Given the description of an element on the screen output the (x, y) to click on. 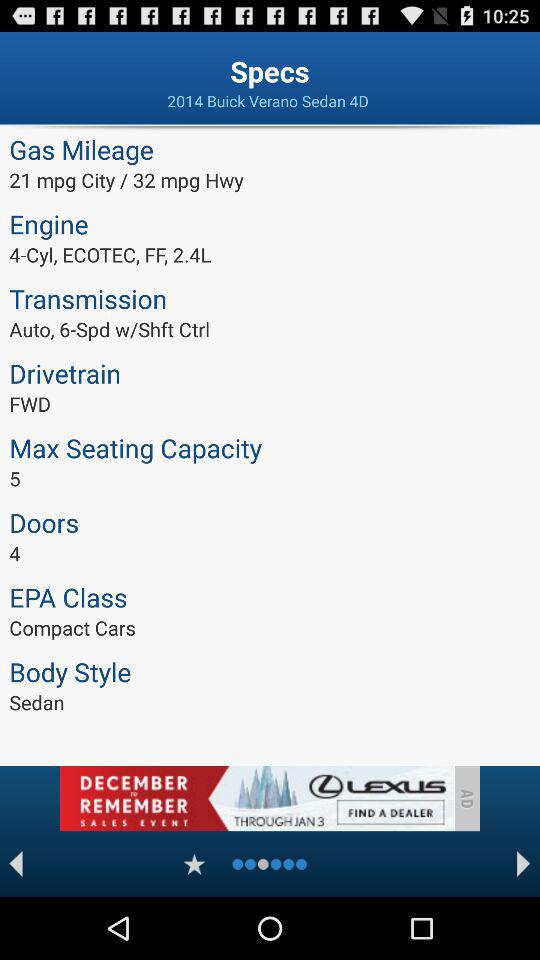
next page (523, 864)
